Given the description of an element on the screen output the (x, y) to click on. 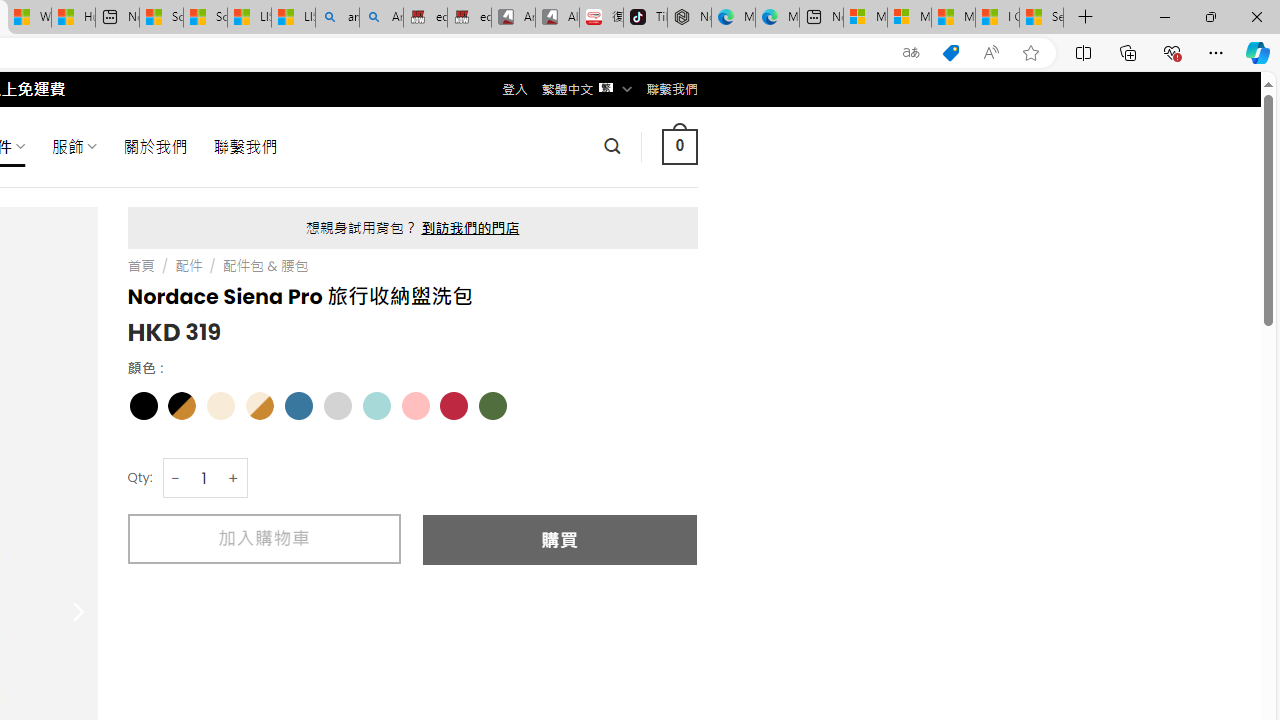
amazon - Search (337, 17)
- (175, 477)
Microsoft account | Privacy (909, 17)
